Given the description of an element on the screen output the (x, y) to click on. 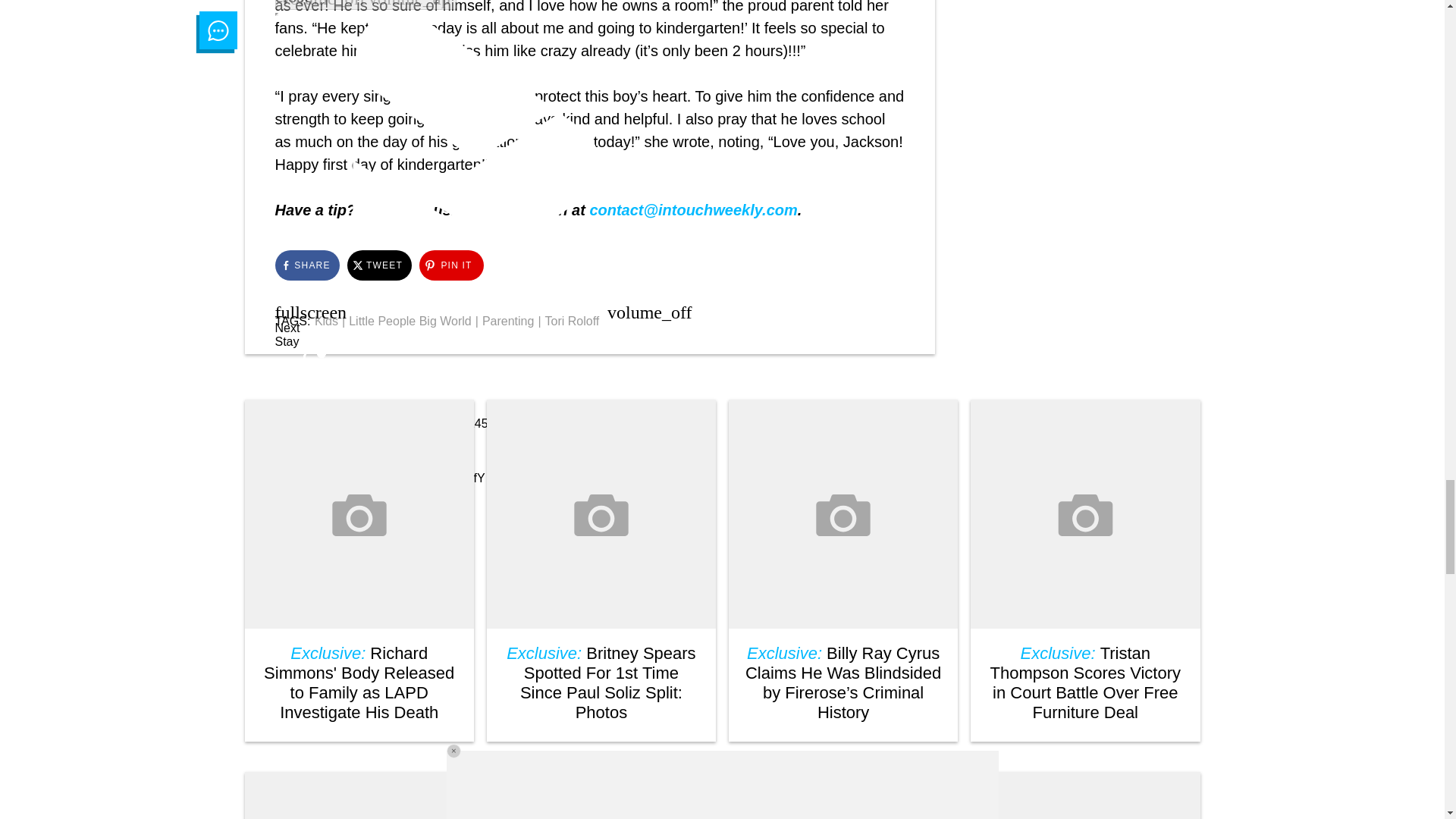
Click to share on Facebook (307, 265)
Click to share on Pinterest (451, 265)
Click to share on Twitter (379, 265)
